Given the description of an element on the screen output the (x, y) to click on. 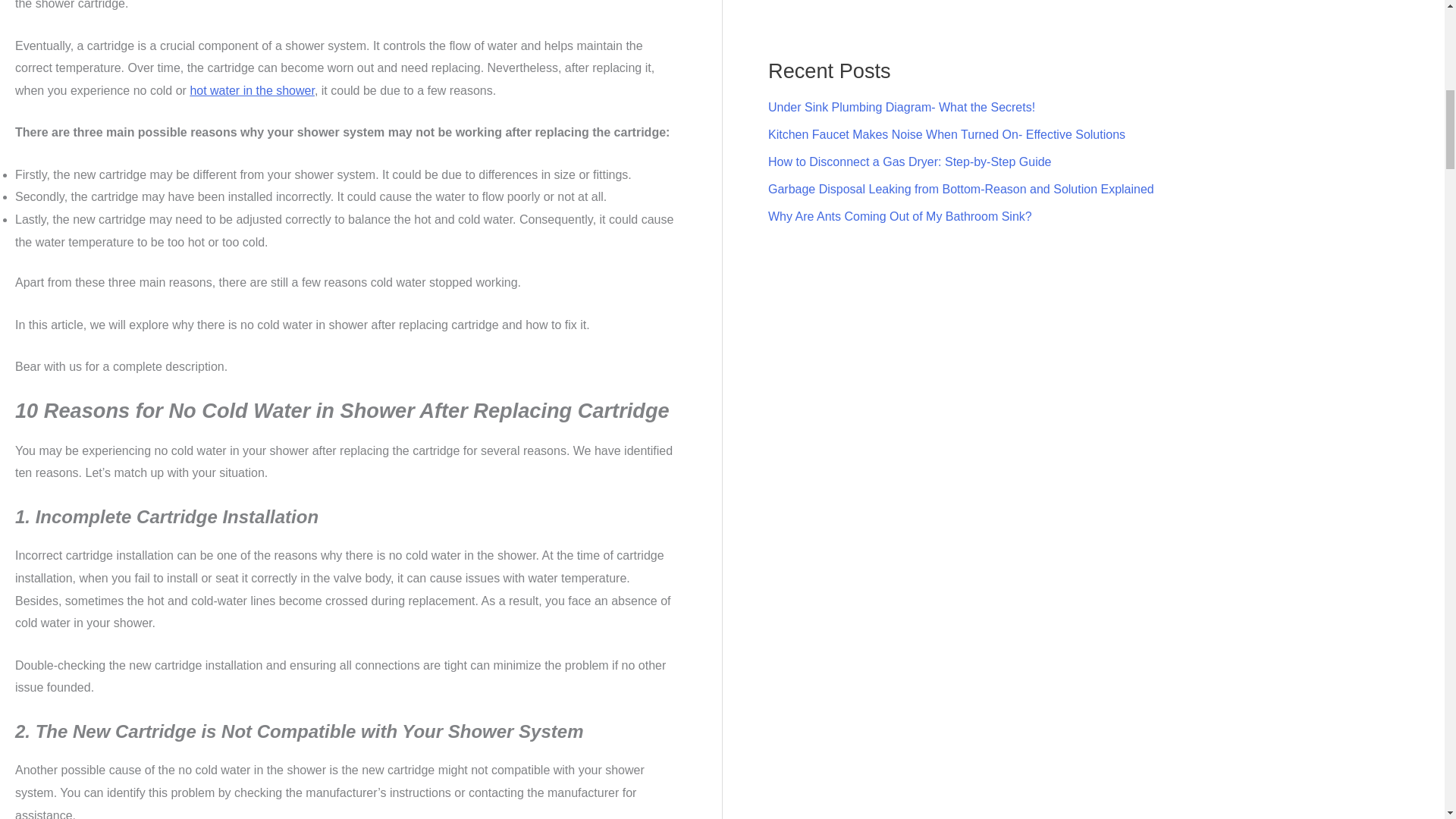
hot water in the shower (251, 90)
How to Disconnect a Gas Dryer: Step-by-Step Guide (909, 161)
Under Sink Plumbing Diagram- What the Secrets! (901, 106)
